Given the description of an element on the screen output the (x, y) to click on. 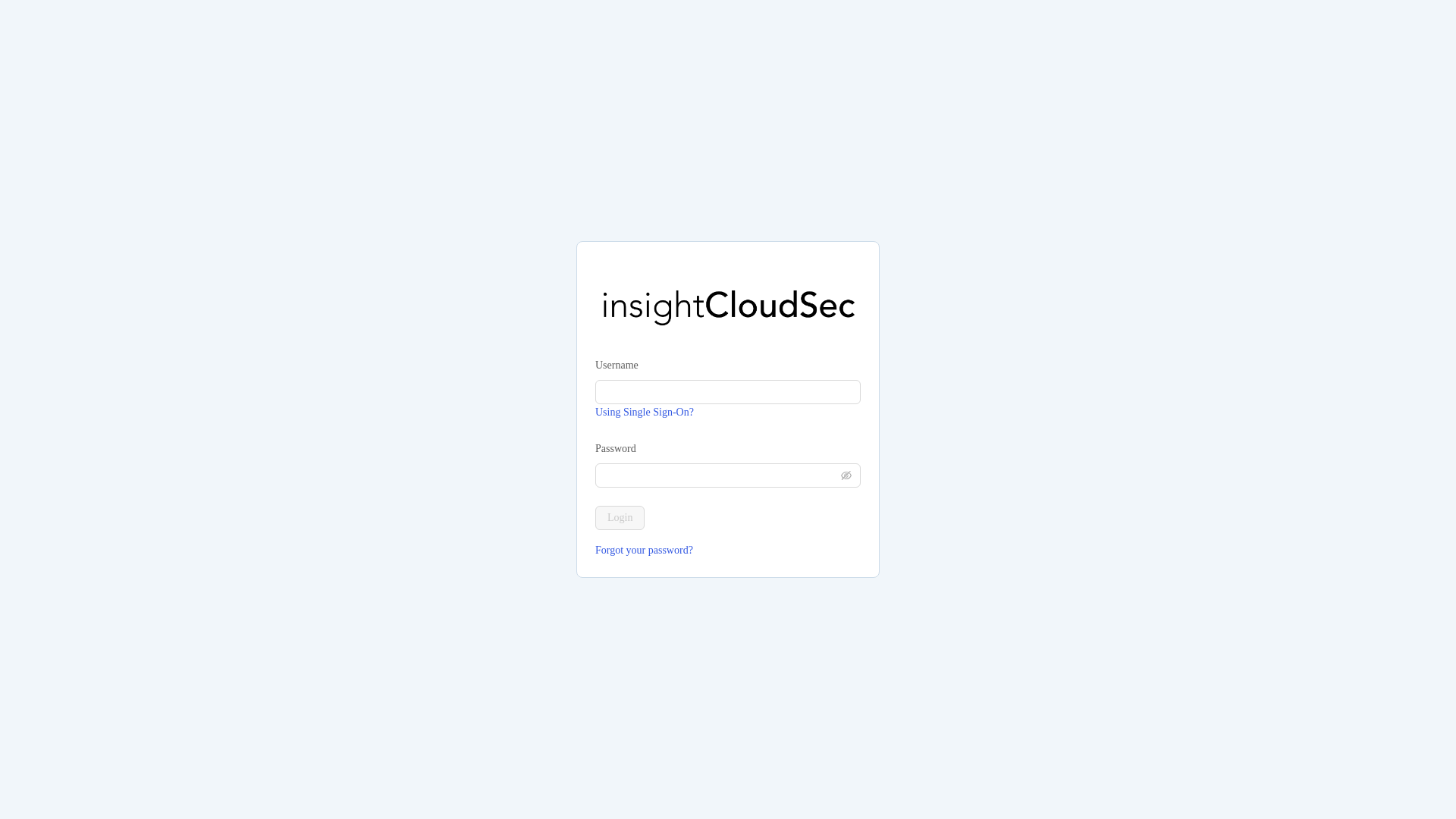
Using Single Sign-On? (644, 411)
Login (620, 517)
Username (617, 365)
Password (615, 448)
Forgot your password? (727, 550)
